Given the description of an element on the screen output the (x, y) to click on. 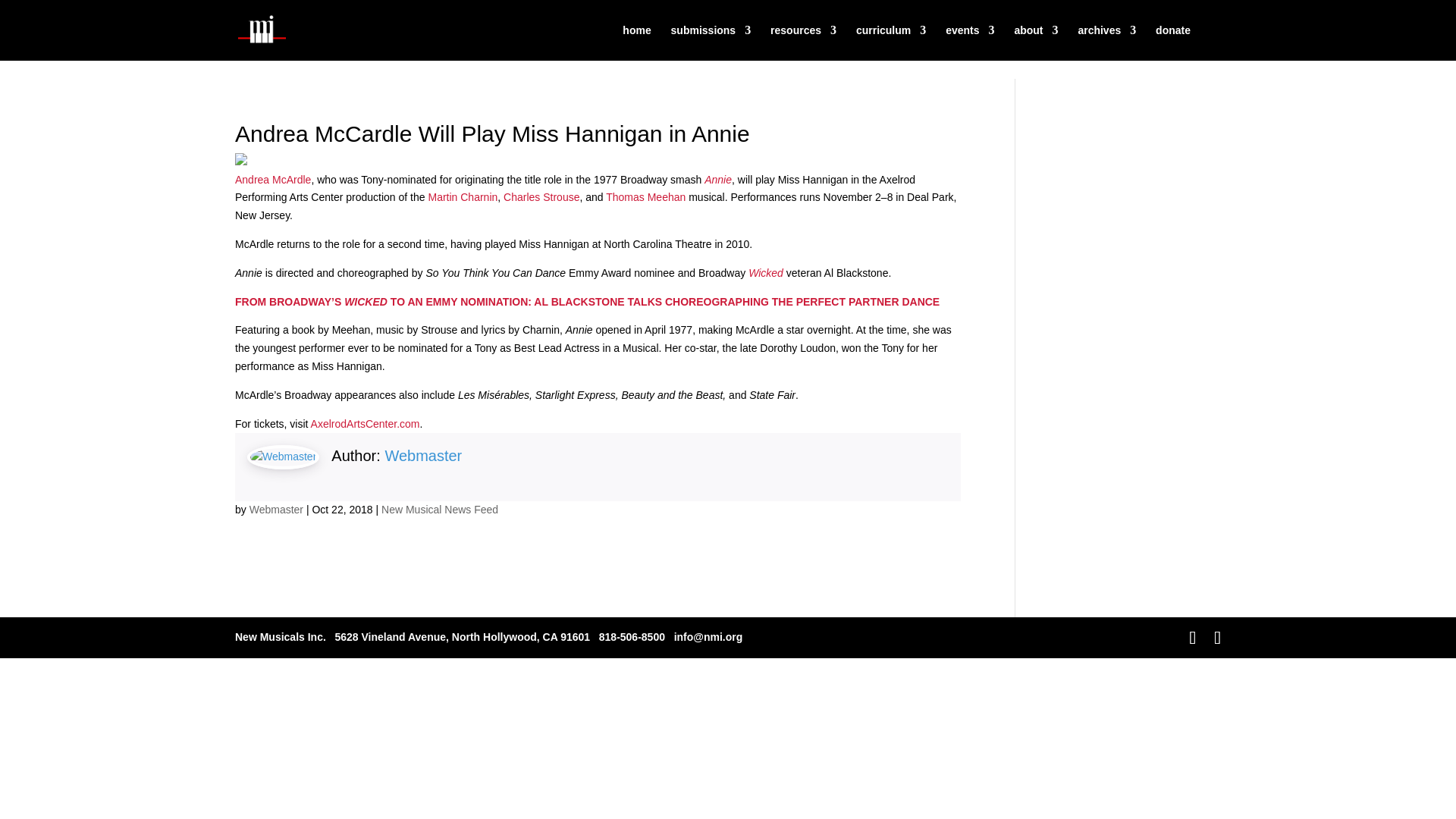
events (969, 42)
archives (1106, 42)
resources (802, 42)
about (1035, 42)
Posts by Webmaster (275, 509)
submissions (711, 42)
curriculum (891, 42)
donate (1173, 42)
